Given the description of an element on the screen output the (x, y) to click on. 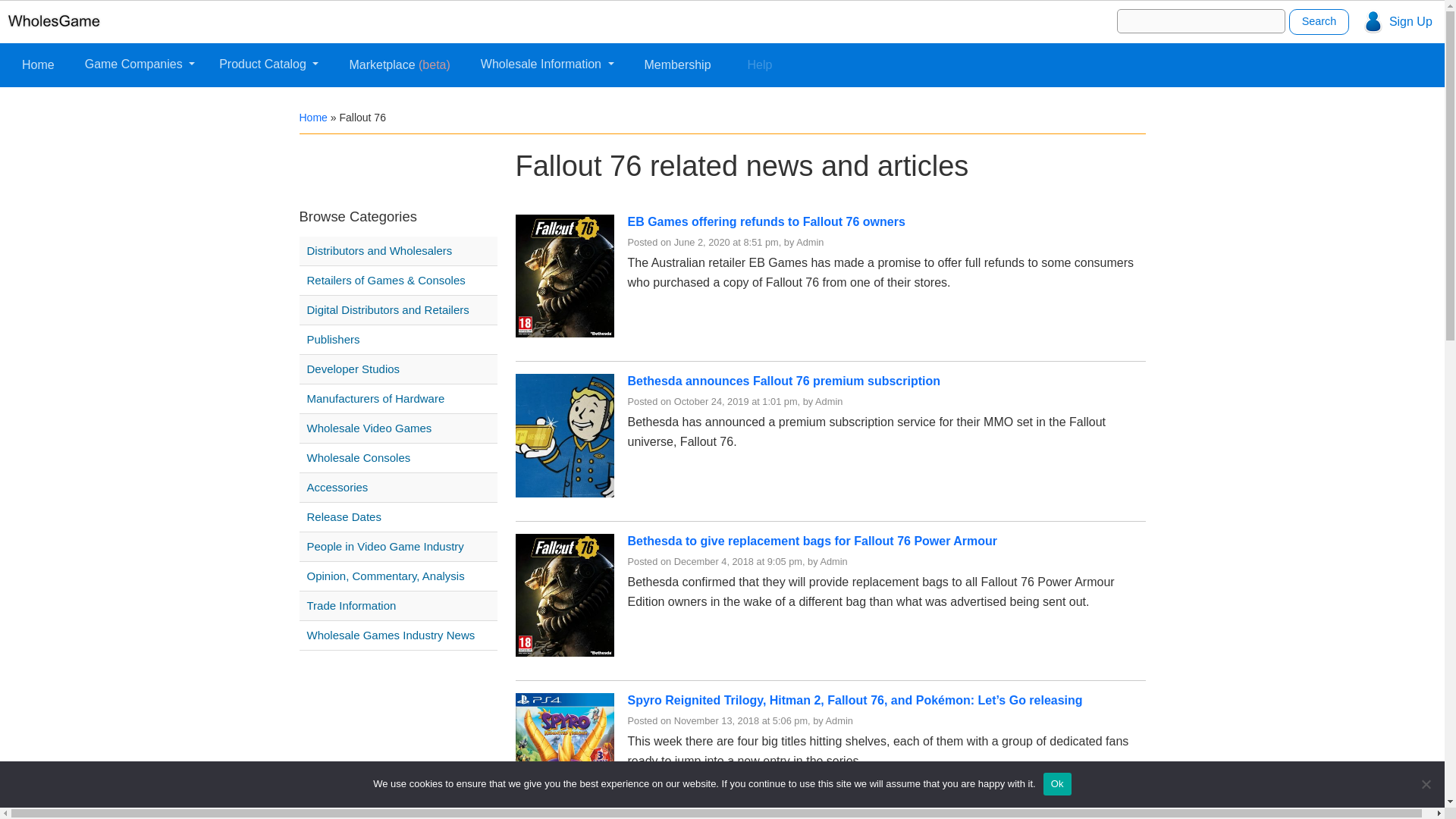
Home (38, 65)
Home (312, 117)
Distributors and Wholesalers (400, 250)
Product Catalog (268, 63)
Search (1318, 22)
Wholesale Information (547, 63)
Help (759, 65)
Digital Distributors and Retailers (400, 310)
Game Companies (139, 63)
Search (1318, 22)
No (1425, 783)
Membership (678, 65)
Publishers (400, 339)
